Given the description of an element on the screen output the (x, y) to click on. 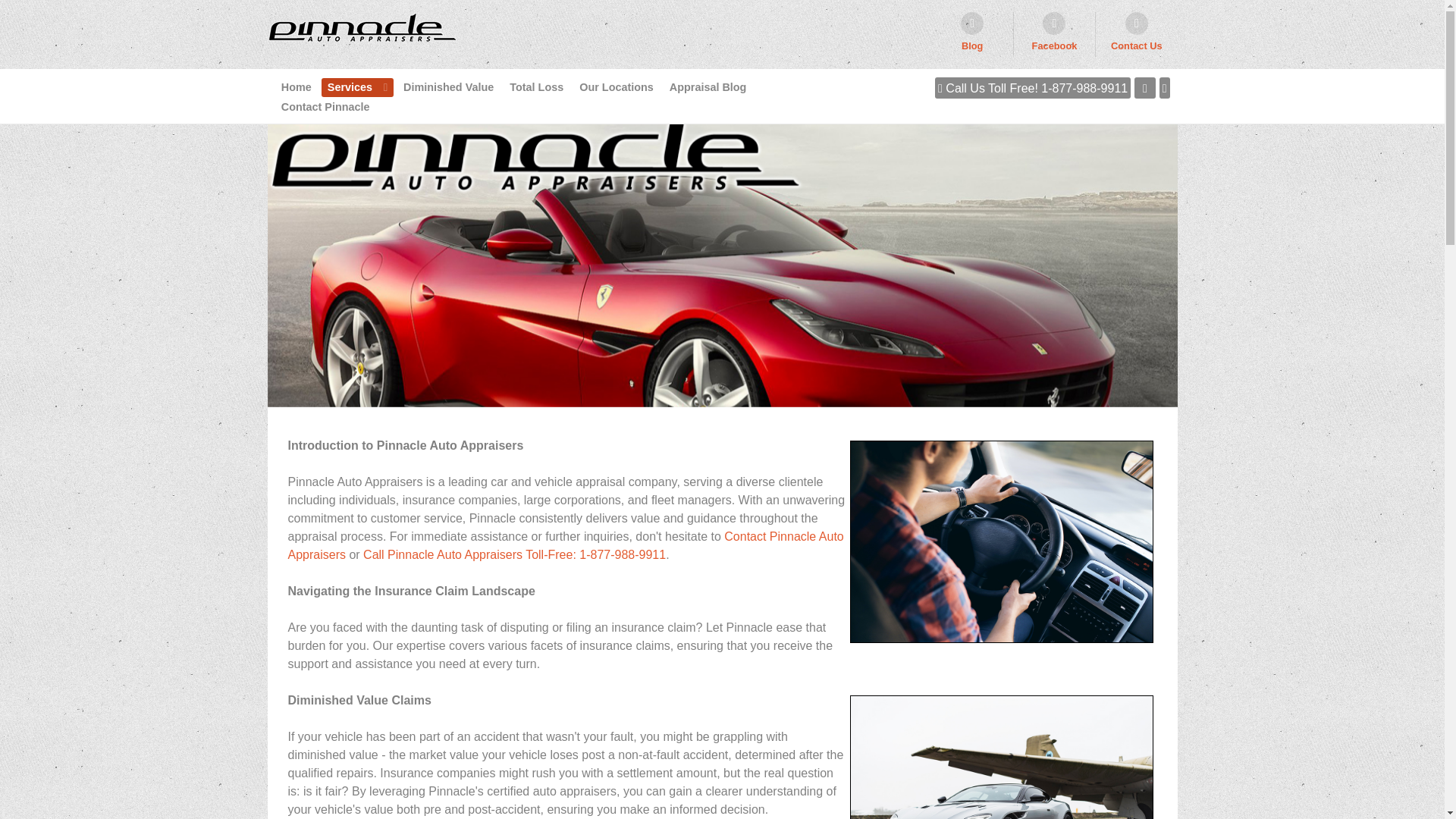
Contact Pinnacle Auto Appraisers (566, 545)
Call Pinnacle Auto Appraisers Toll-Free: 1-877-988-9911 (513, 554)
Our Locations (616, 86)
Call Us Toll Free! 1-877-988-9911 (1032, 87)
Contact Pinnacle (325, 106)
Facebook (1054, 34)
Phone (1032, 87)
Facebook (1054, 34)
Contact Us (1136, 34)
Home (296, 86)
Blog (972, 34)
Contact Us (1136, 34)
Blog (972, 34)
Appraisal Blog (707, 86)
Diminished Value (448, 86)
